Given the description of an element on the screen output the (x, y) to click on. 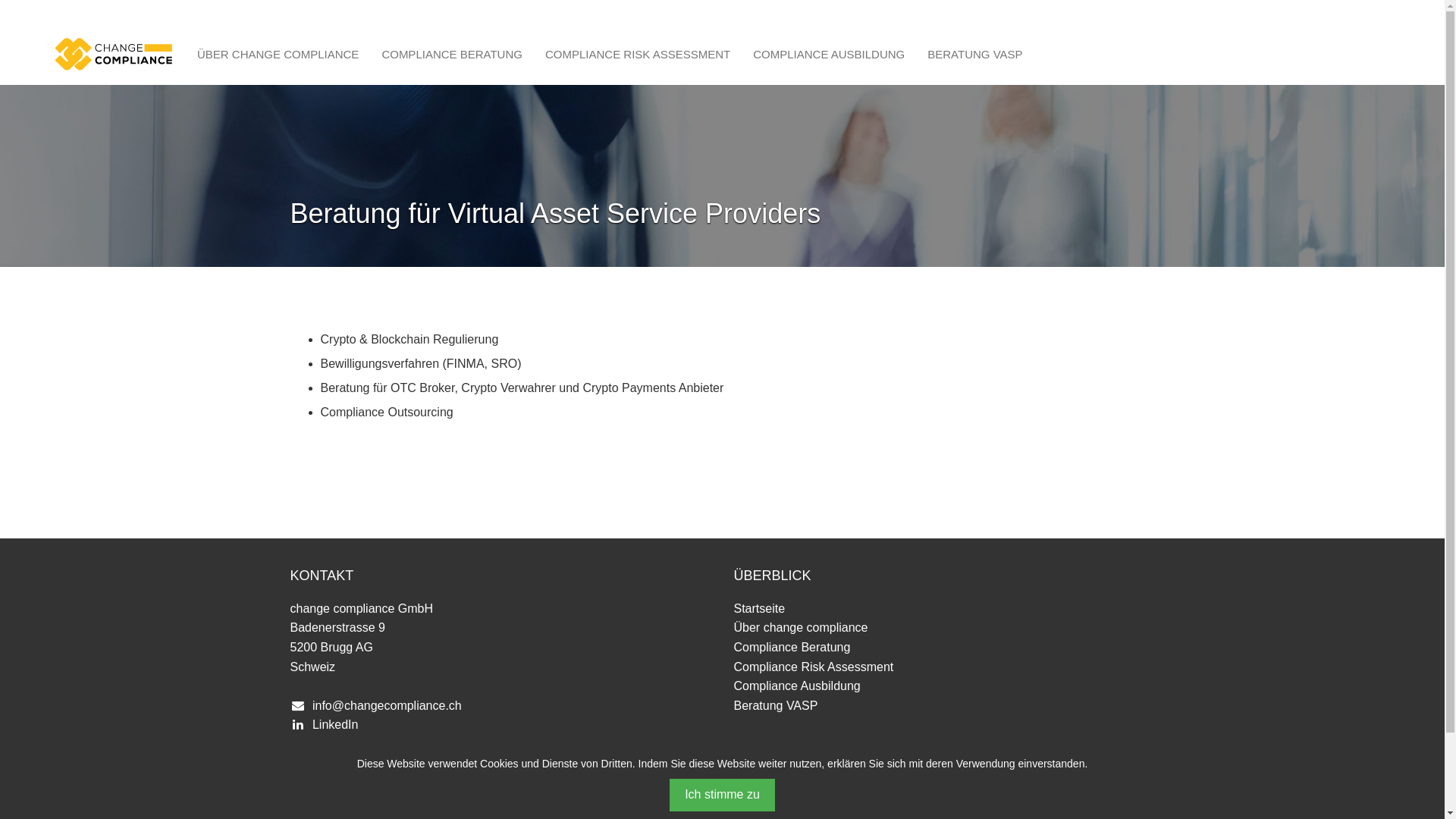
COMPLIANCE AUSBILDUNG Element type: text (828, 54)
Ich stimme zu Element type: text (722, 794)
Compliance Beratung Element type: text (792, 646)
Startseite Element type: text (759, 608)
Beratung VASP Element type: text (776, 705)
info@changecompliance.ch Element type: text (386, 705)
Compliance Ausbildung Element type: text (797, 685)
COMPLIANCE RISK ASSESSMENT Element type: text (637, 54)
COMPLIANCE BERATUNG Element type: text (451, 54)
BERATUNG VASP Element type: text (974, 54)
LinkedIn Element type: text (335, 724)
Compliance Risk Assessment Element type: text (814, 666)
